Given the description of an element on the screen output the (x, y) to click on. 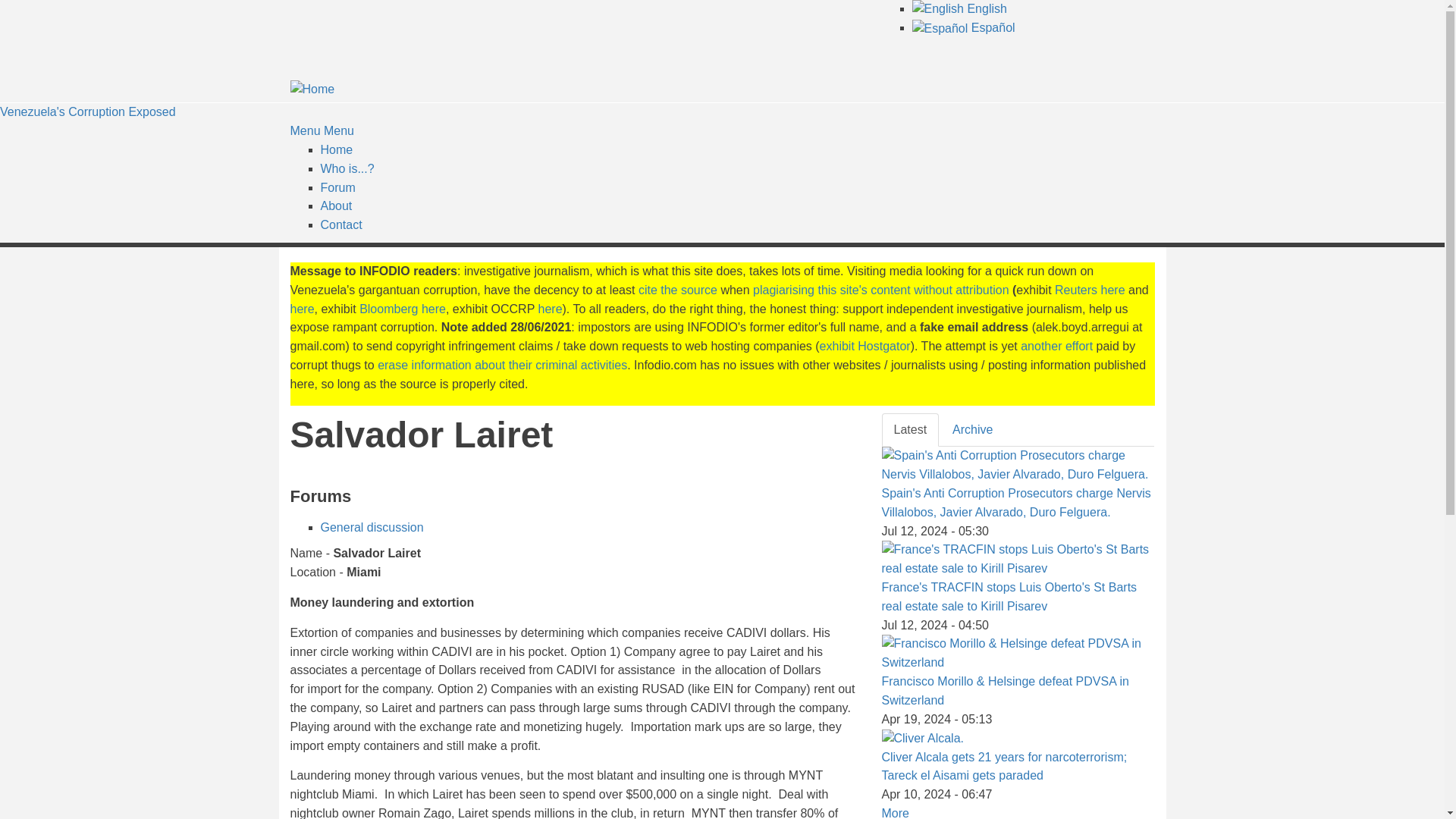
Home (88, 111)
Who is...? (347, 168)
English (936, 9)
Menu (304, 130)
English (958, 8)
Bloomberg here (402, 308)
exhibit Hostgator (865, 345)
Home (336, 149)
Latest (909, 430)
cite the source (678, 289)
Menu (338, 130)
